Given the description of an element on the screen output the (x, y) to click on. 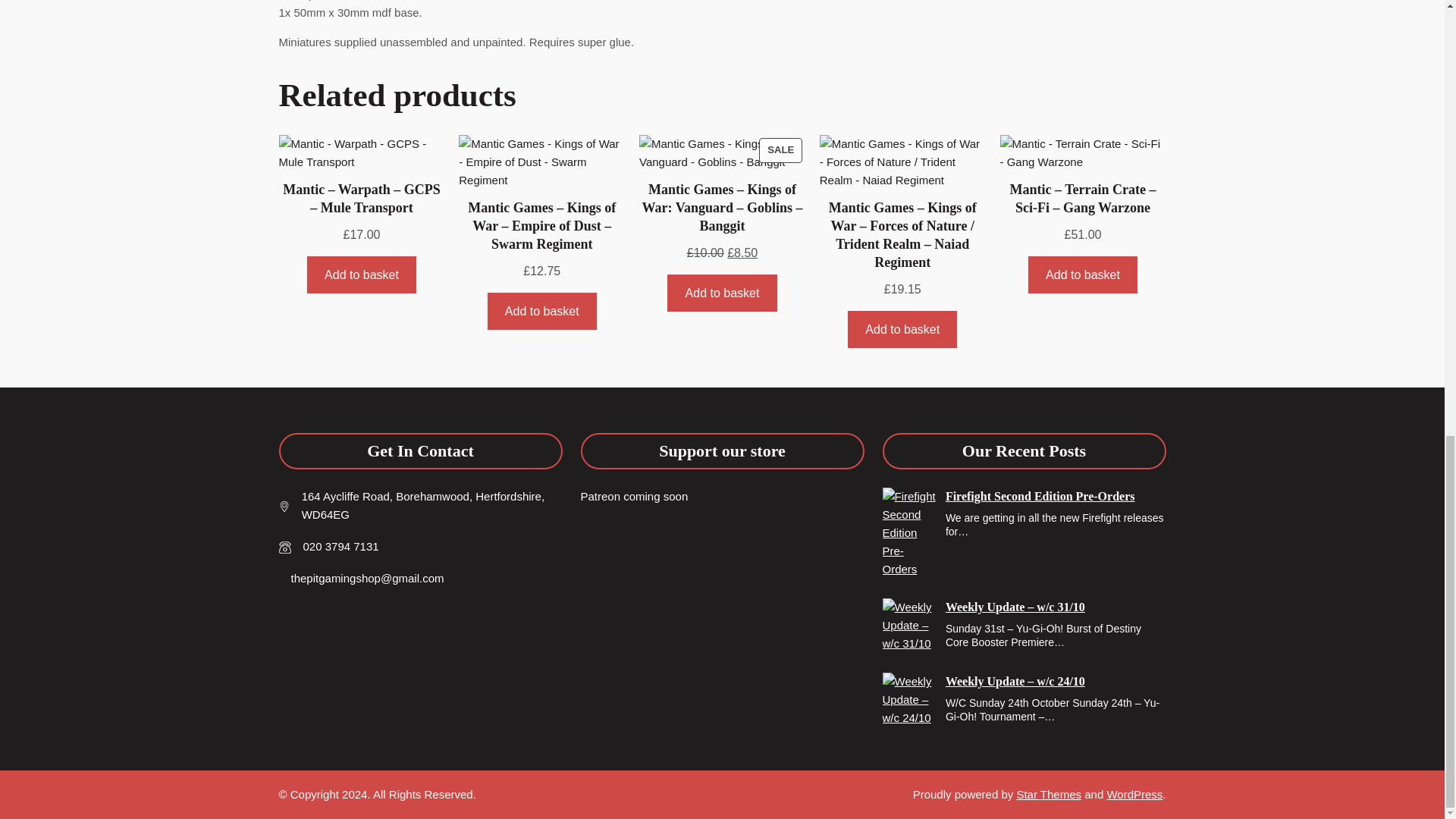
Add to basket (361, 274)
Add to basket (901, 329)
Add to basket (722, 151)
Add to basket (541, 311)
